Given the description of an element on the screen output the (x, y) to click on. 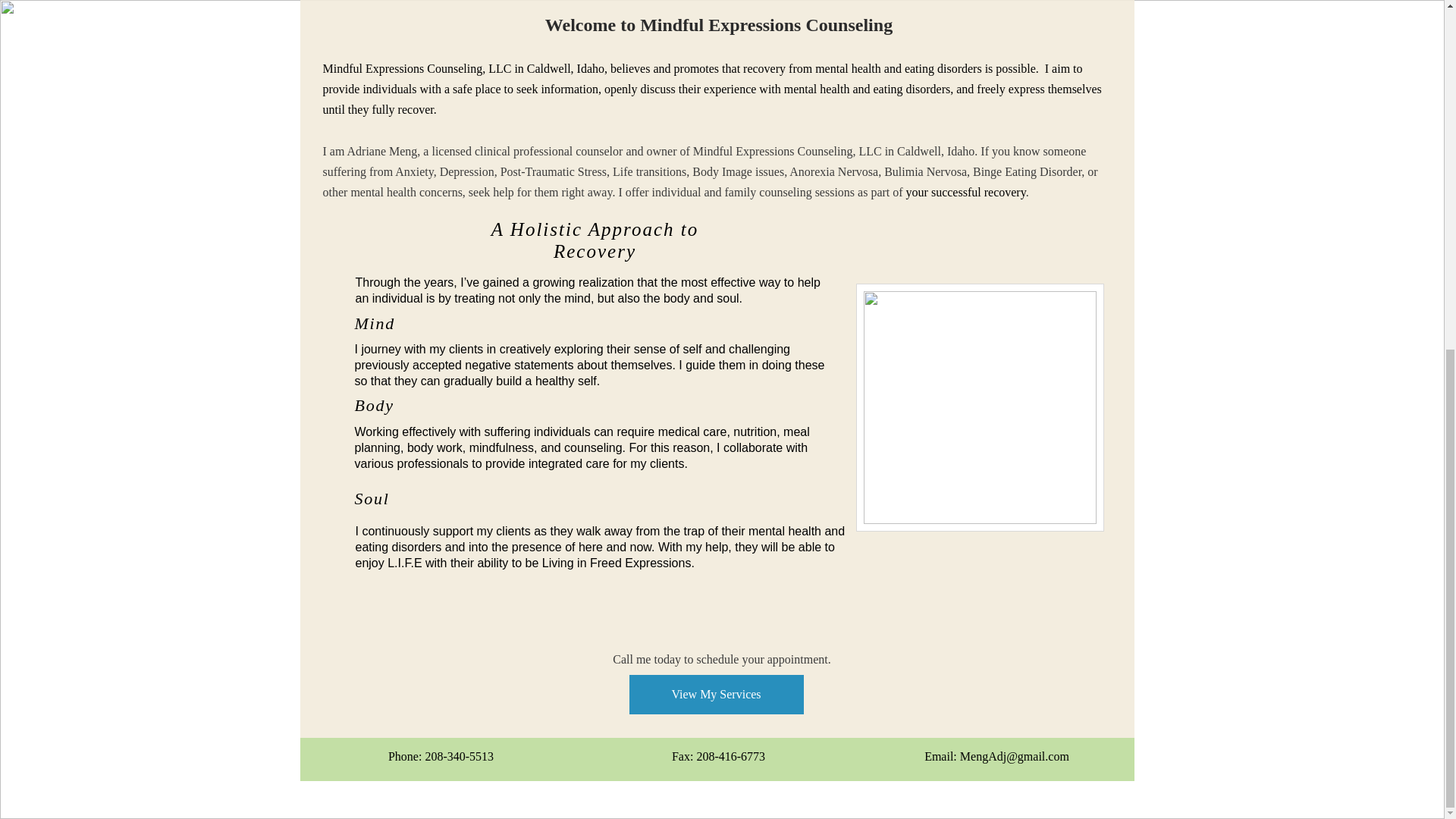
View My Services (715, 694)
